Given the description of an element on the screen output the (x, y) to click on. 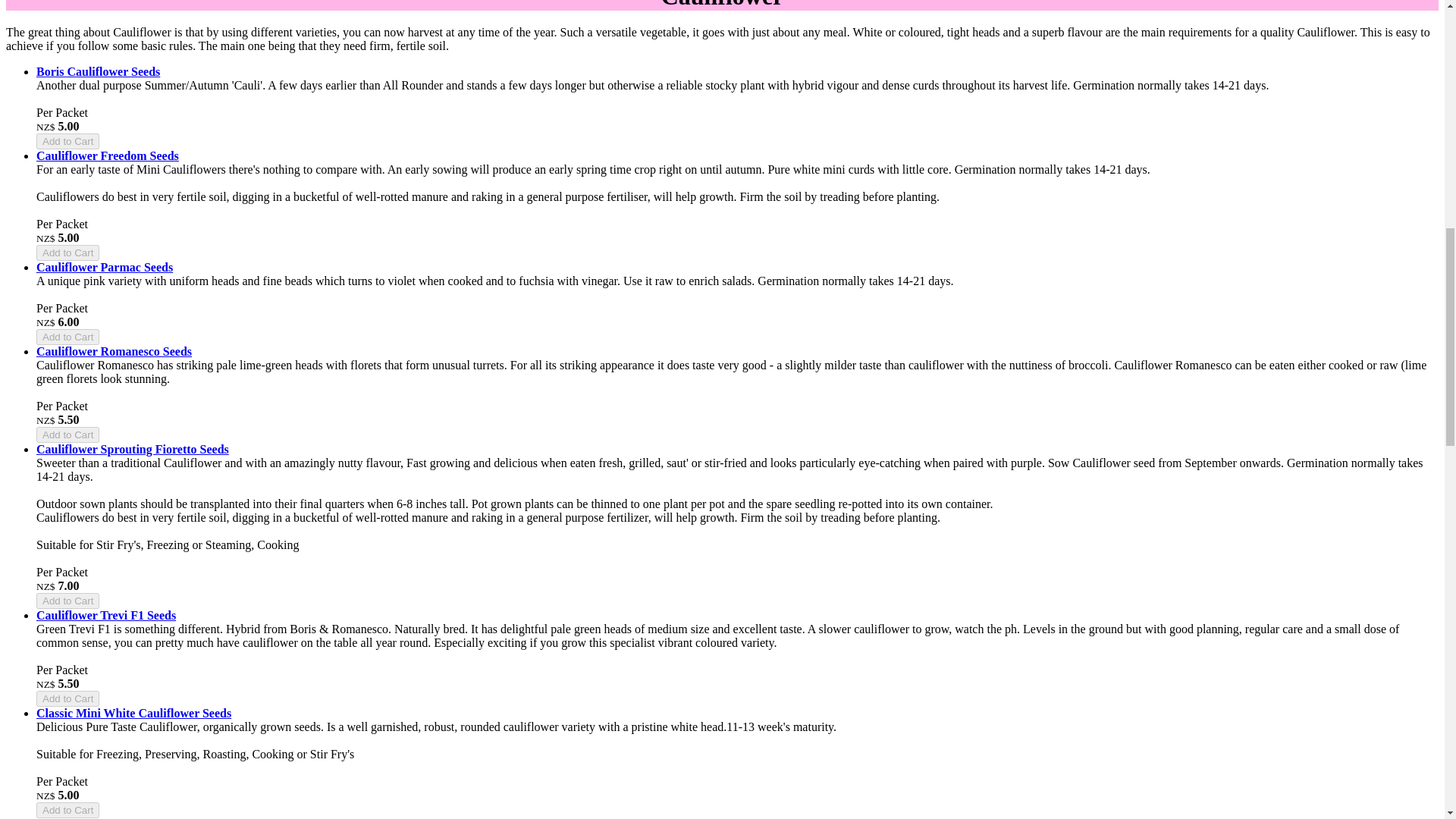
Add to Cart (67, 336)
Add to Cart (67, 600)
Add to Cart (67, 810)
Add to Cart (67, 141)
Add to Cart (67, 698)
Add to Cart (67, 252)
Add to Cart (67, 434)
